Given the description of an element on the screen output the (x, y) to click on. 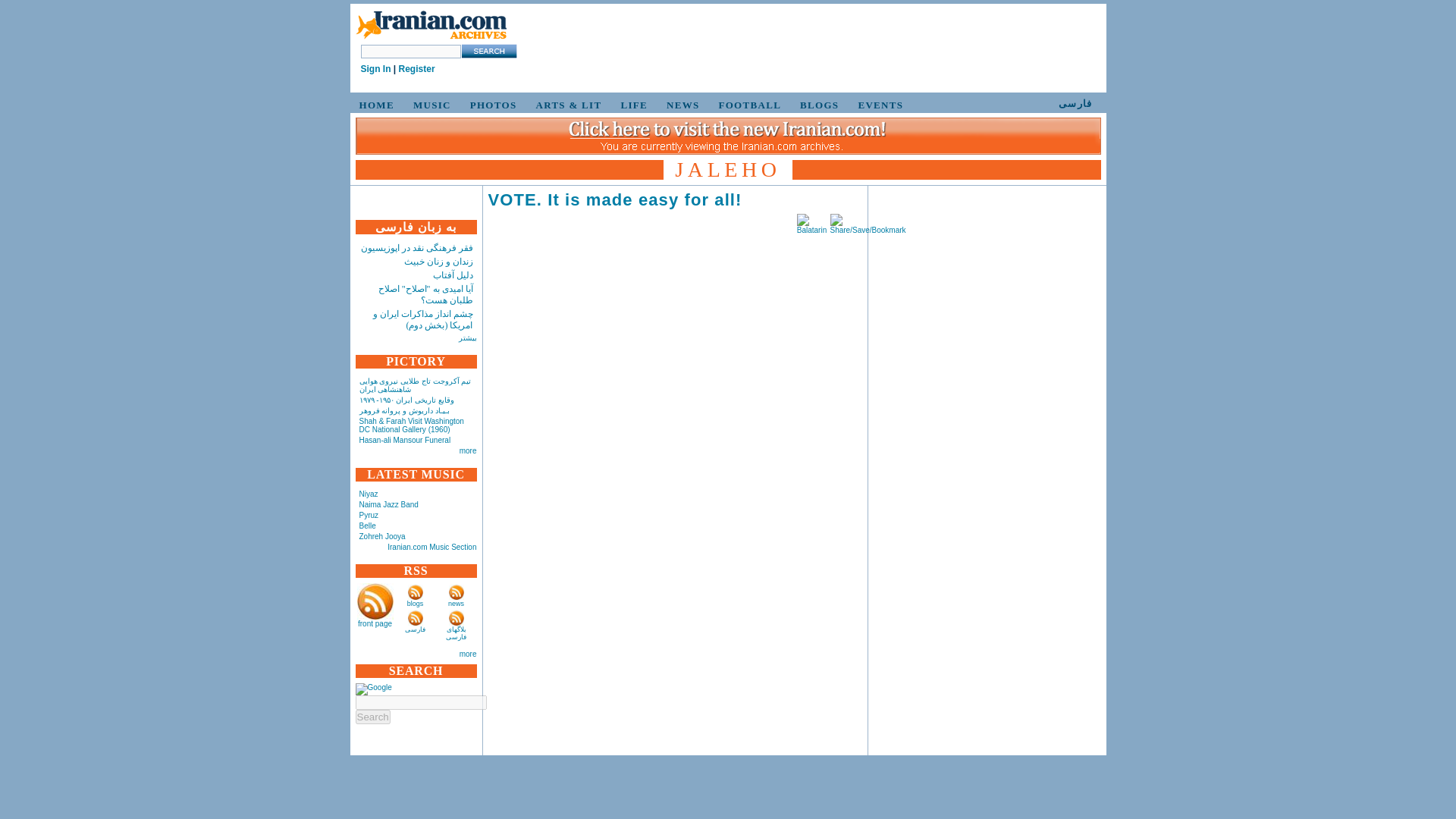
EVENTS (877, 105)
news (456, 603)
Naima Jazz Band (389, 504)
Register (416, 68)
Pyruz (368, 515)
BLOGS (816, 105)
NEWS (681, 105)
HOME (374, 105)
LIFE (631, 105)
more (468, 450)
